Given the description of an element on the screen output the (x, y) to click on. 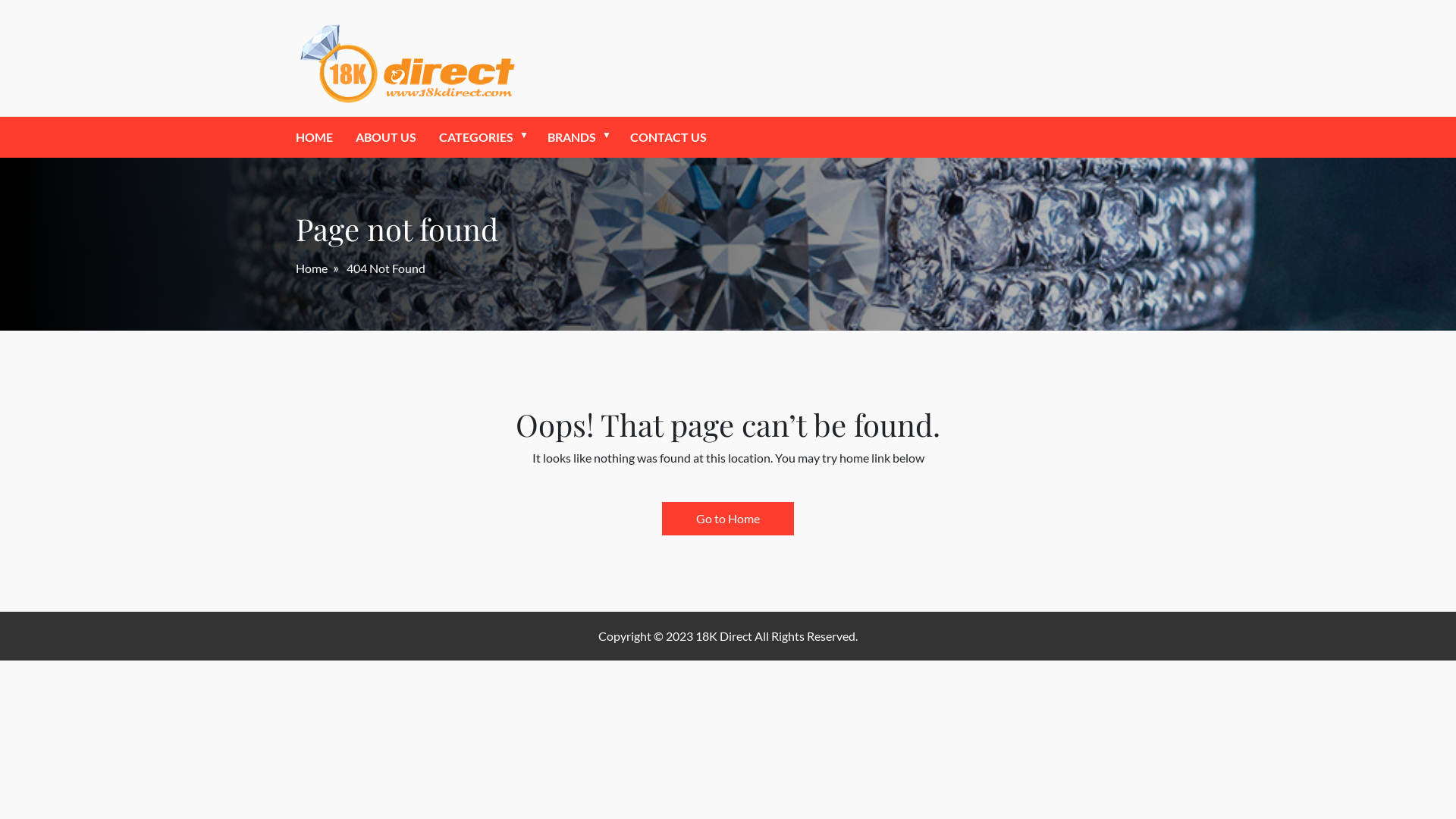
CATEGORIES Element type: text (476, 136)
CONTACT US Element type: text (668, 136)
Home Element type: text (311, 267)
ABOUT US Element type: text (385, 136)
Go to Home Element type: text (727, 518)
BRANDS Element type: text (571, 136)
HOME Element type: text (313, 136)
